Given the description of an element on the screen output the (x, y) to click on. 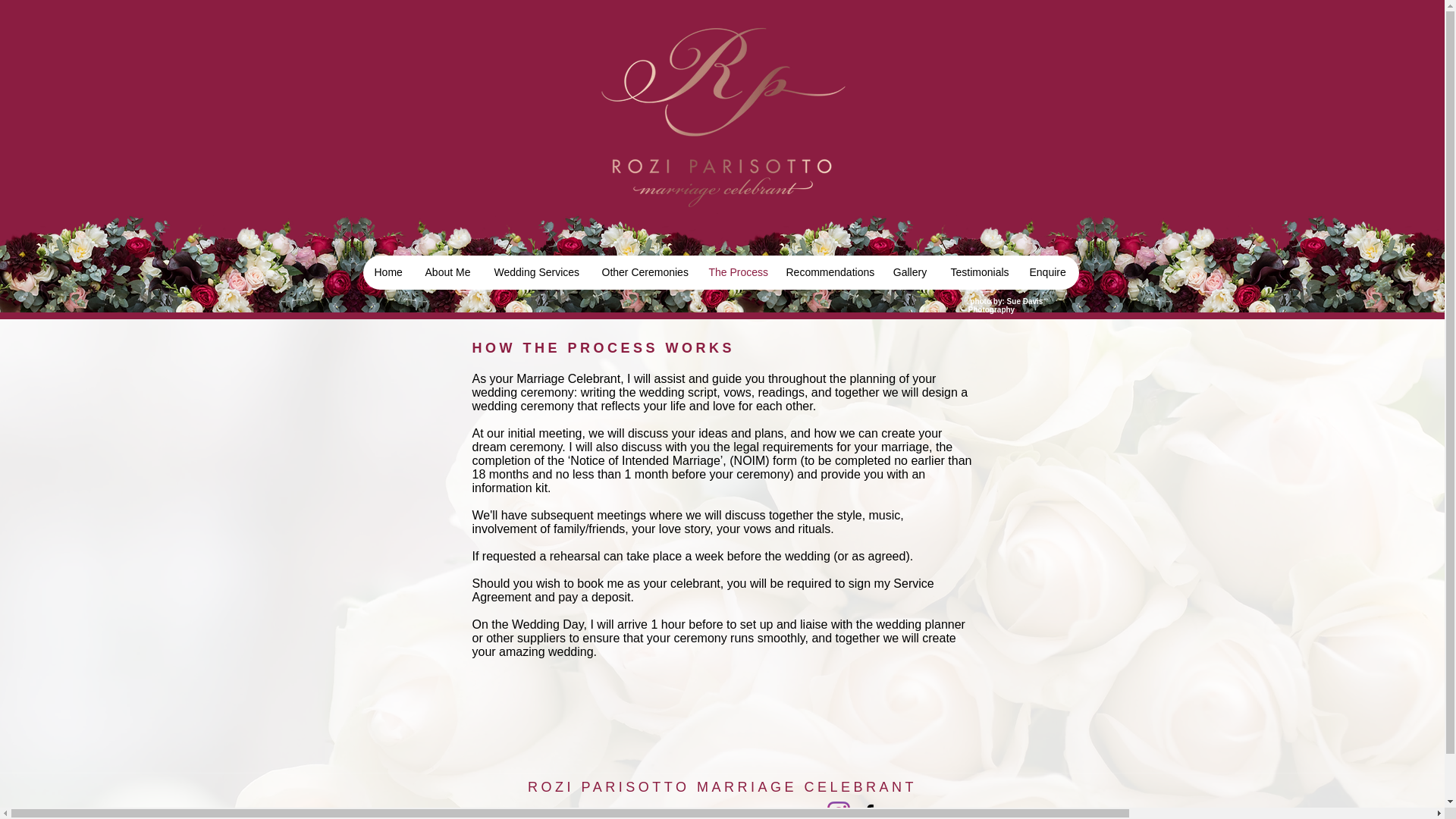
Home (387, 272)
Gallery (909, 272)
About Me (446, 272)
The Process (734, 272)
Testimonials (978, 272)
Other Ceremonies (643, 272)
Recommendations (826, 272)
Wedding Services (535, 272)
Enquire (1046, 272)
